Given the description of an element on the screen output the (x, y) to click on. 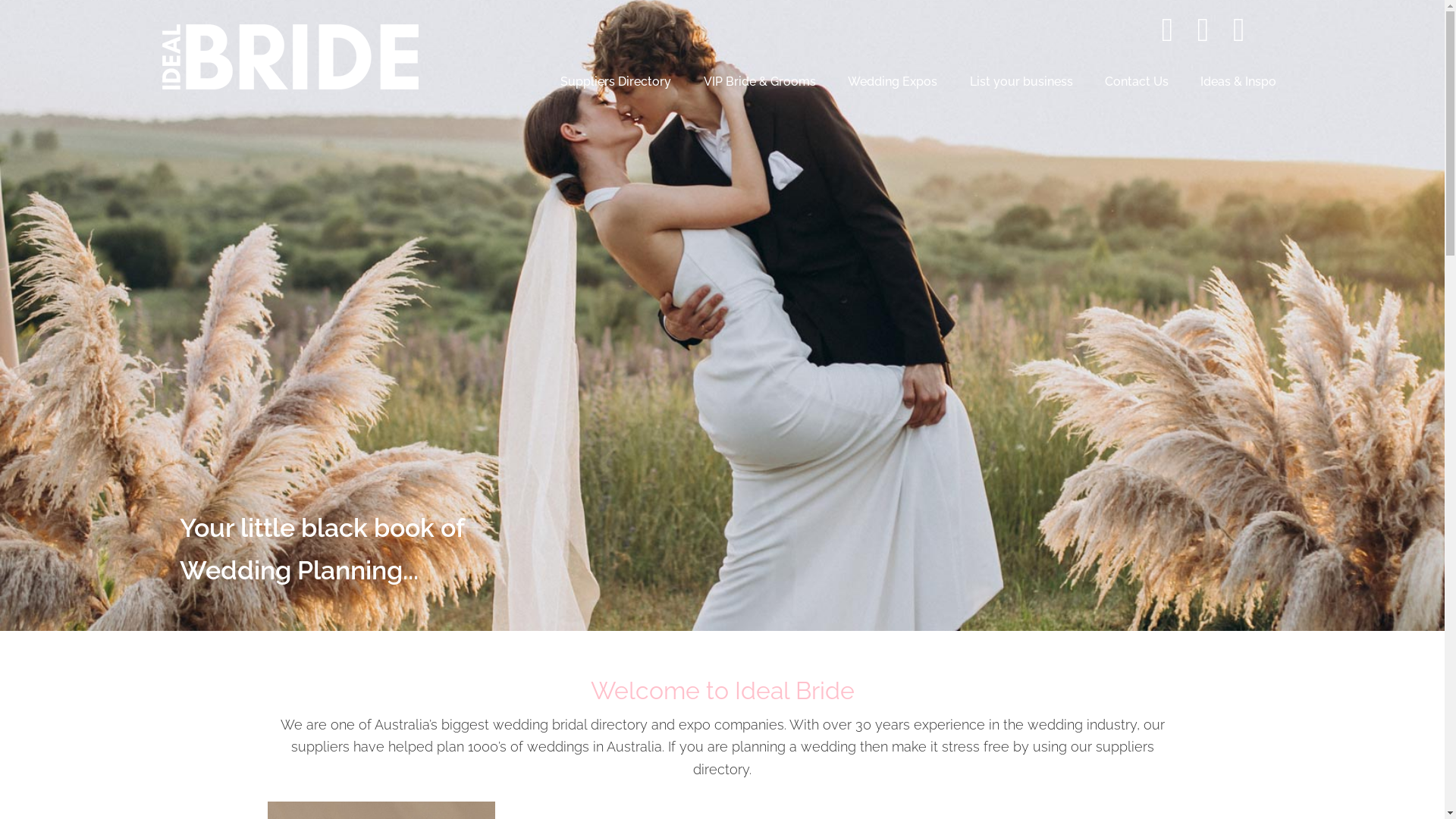
Contact Us Element type: text (1136, 81)
Ideal Bride Element type: hover (285, 86)
Suppliers Directory Element type: text (615, 81)
VIP Bride & Grooms Element type: text (759, 81)
Wedding Expos Element type: text (892, 81)
List your business Element type: text (1020, 81)
Ideas & Inspo Element type: text (1238, 81)
Skip to primary navigation Element type: text (0, 0)
